Given the description of an element on the screen output the (x, y) to click on. 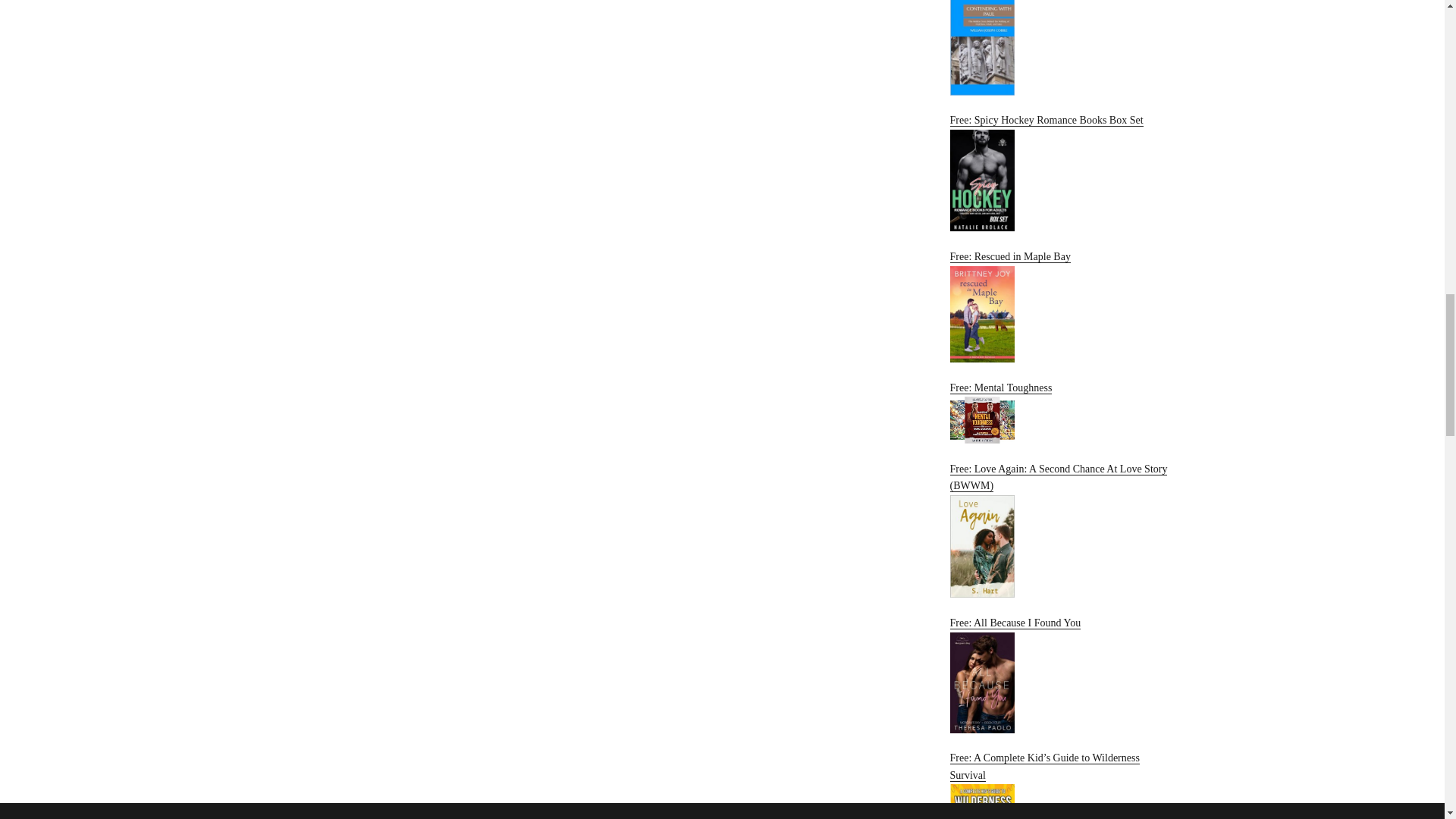
Free: Spicy Hockey Romance Books Box Set (1062, 172)
Free: All Because I Found You (1062, 674)
Free: Mental Toughness (1062, 412)
Free: Rescued in Maple Bay (1062, 306)
